Given the description of an element on the screen output the (x, y) to click on. 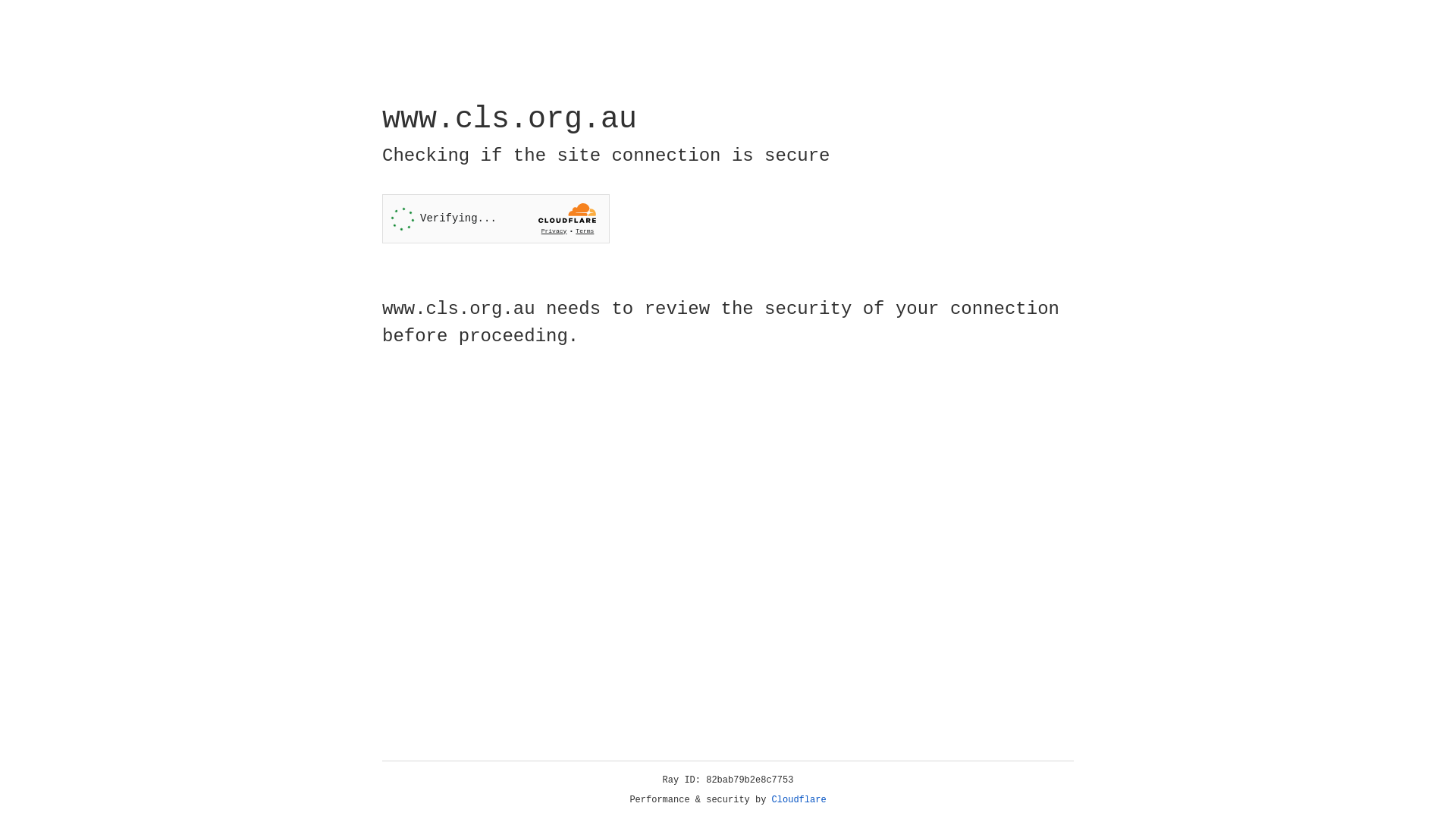
Cloudflare Element type: text (798, 799)
Widget containing a Cloudflare security challenge Element type: hover (495, 218)
